Given the description of an element on the screen output the (x, y) to click on. 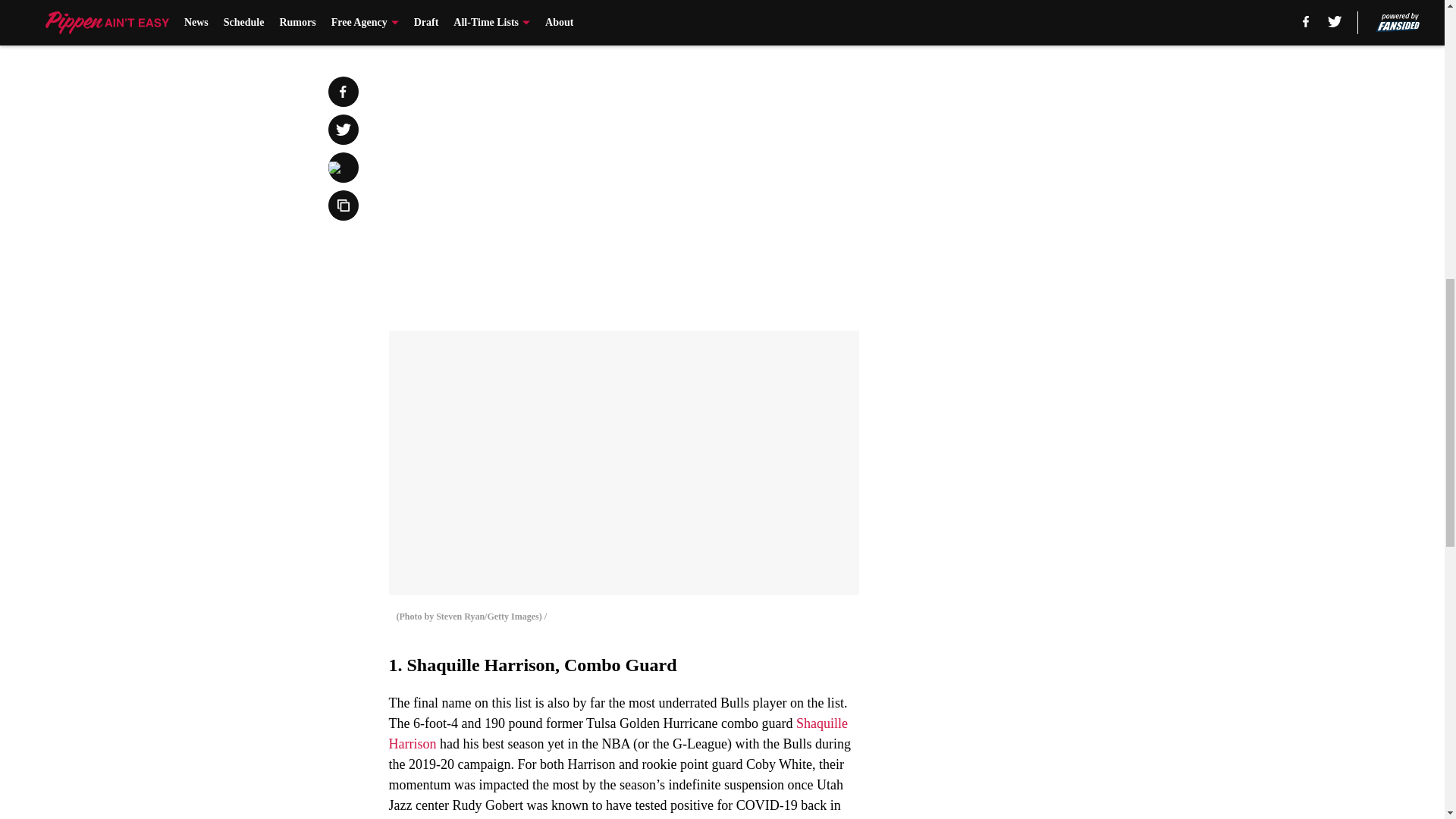
Next (813, 20)
Shaquille Harrison (617, 733)
Prev (433, 20)
